Given the description of an element on the screen output the (x, y) to click on. 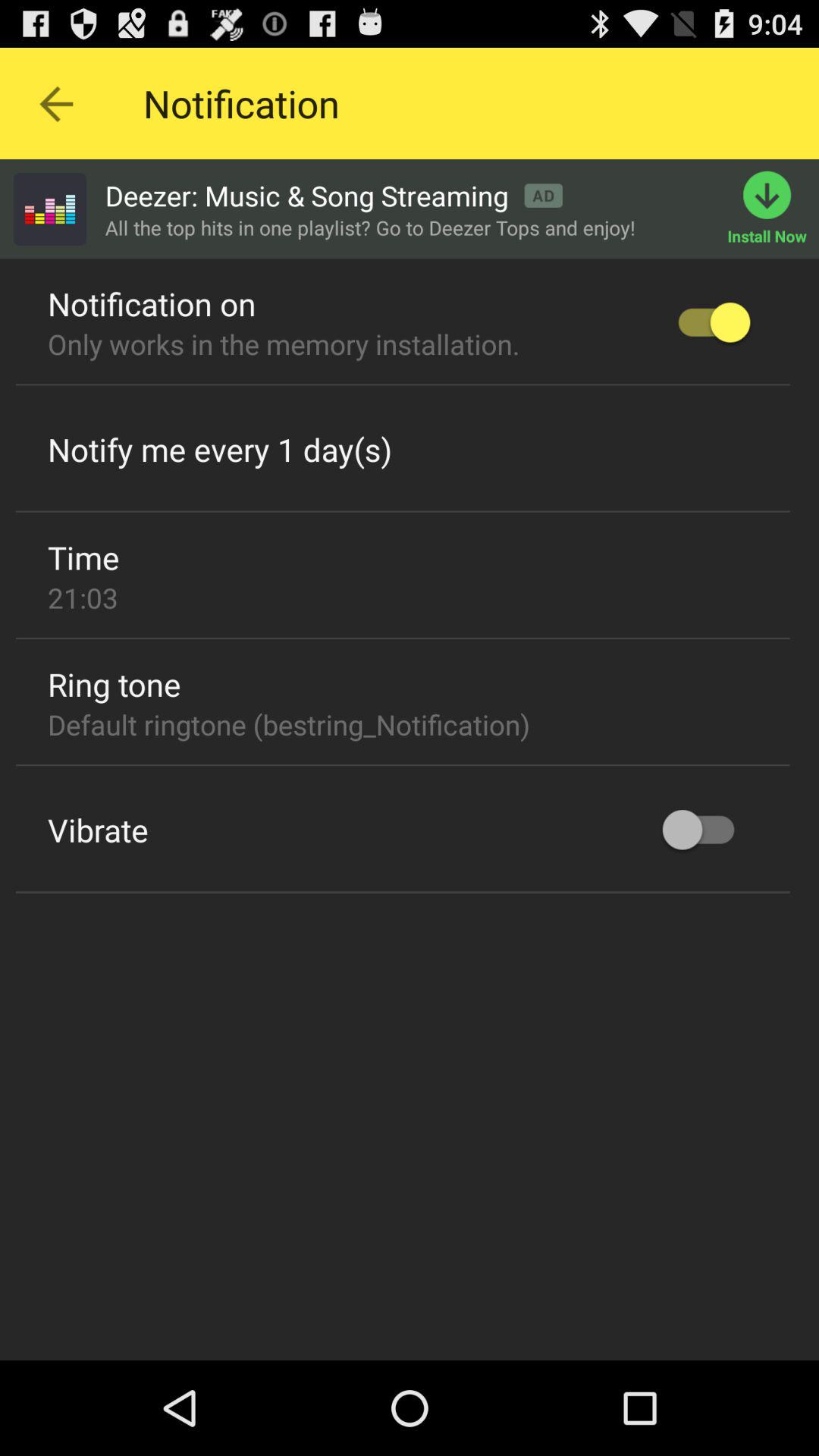
tap the icon below only works in item (402, 384)
